Given the description of an element on the screen output the (x, y) to click on. 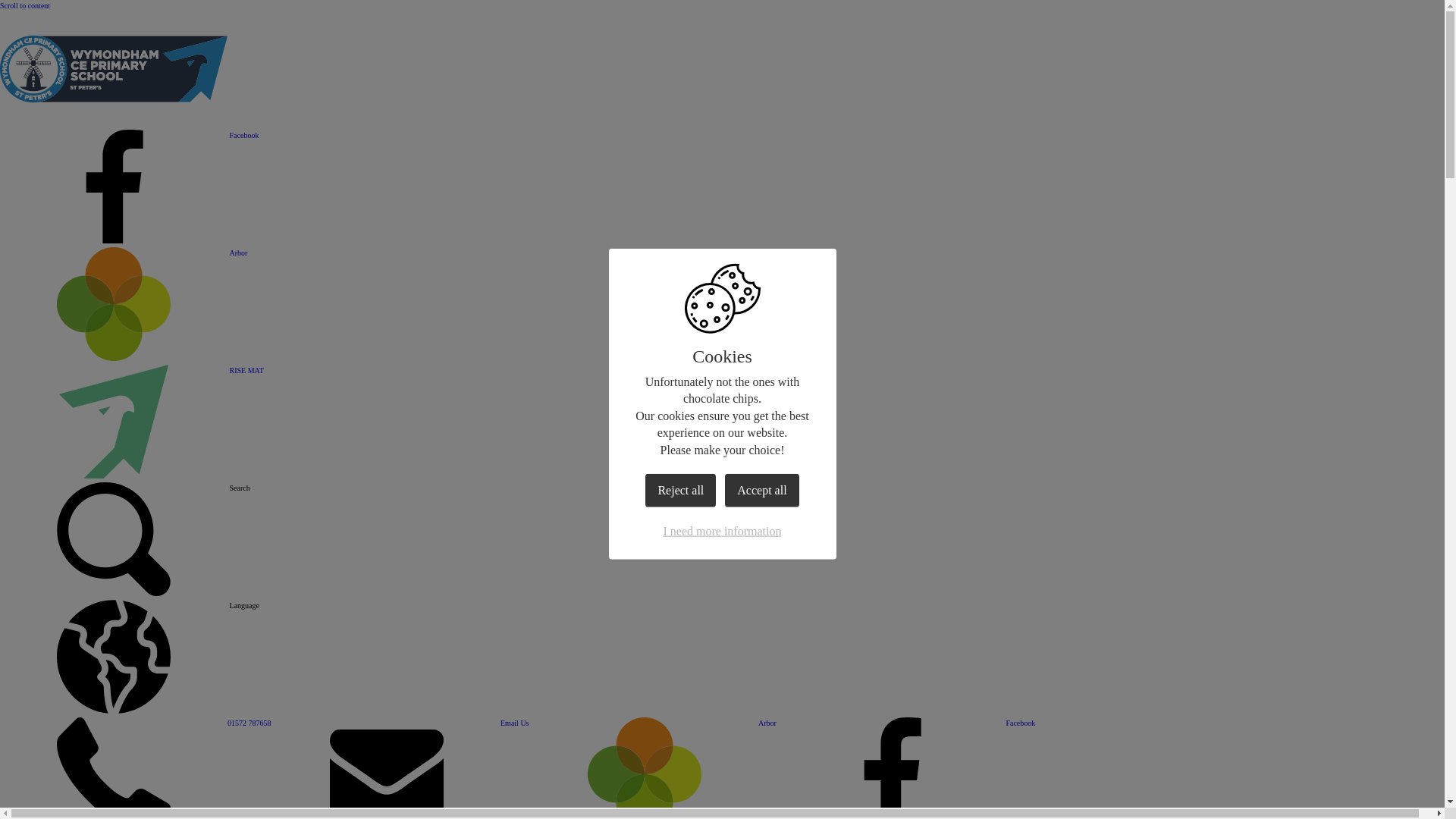
Facebook (129, 240)
Scroll to content (24, 5)
Home Page (113, 122)
Arbor (123, 357)
Scroll to content (24, 5)
RISE MAT (131, 475)
